Given the description of an element on the screen output the (x, y) to click on. 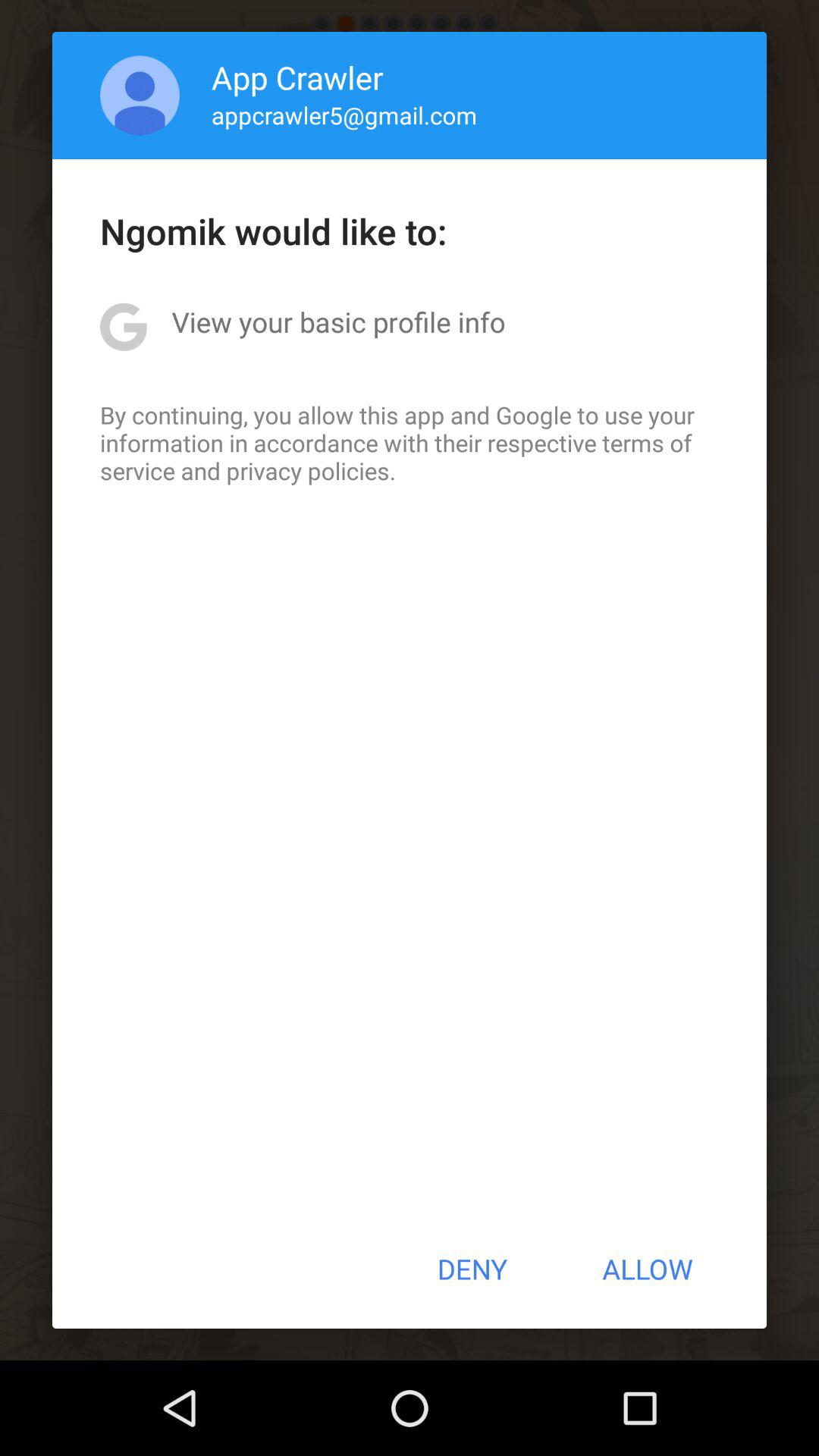
select the item next to app crawler icon (139, 95)
